Given the description of an element on the screen output the (x, y) to click on. 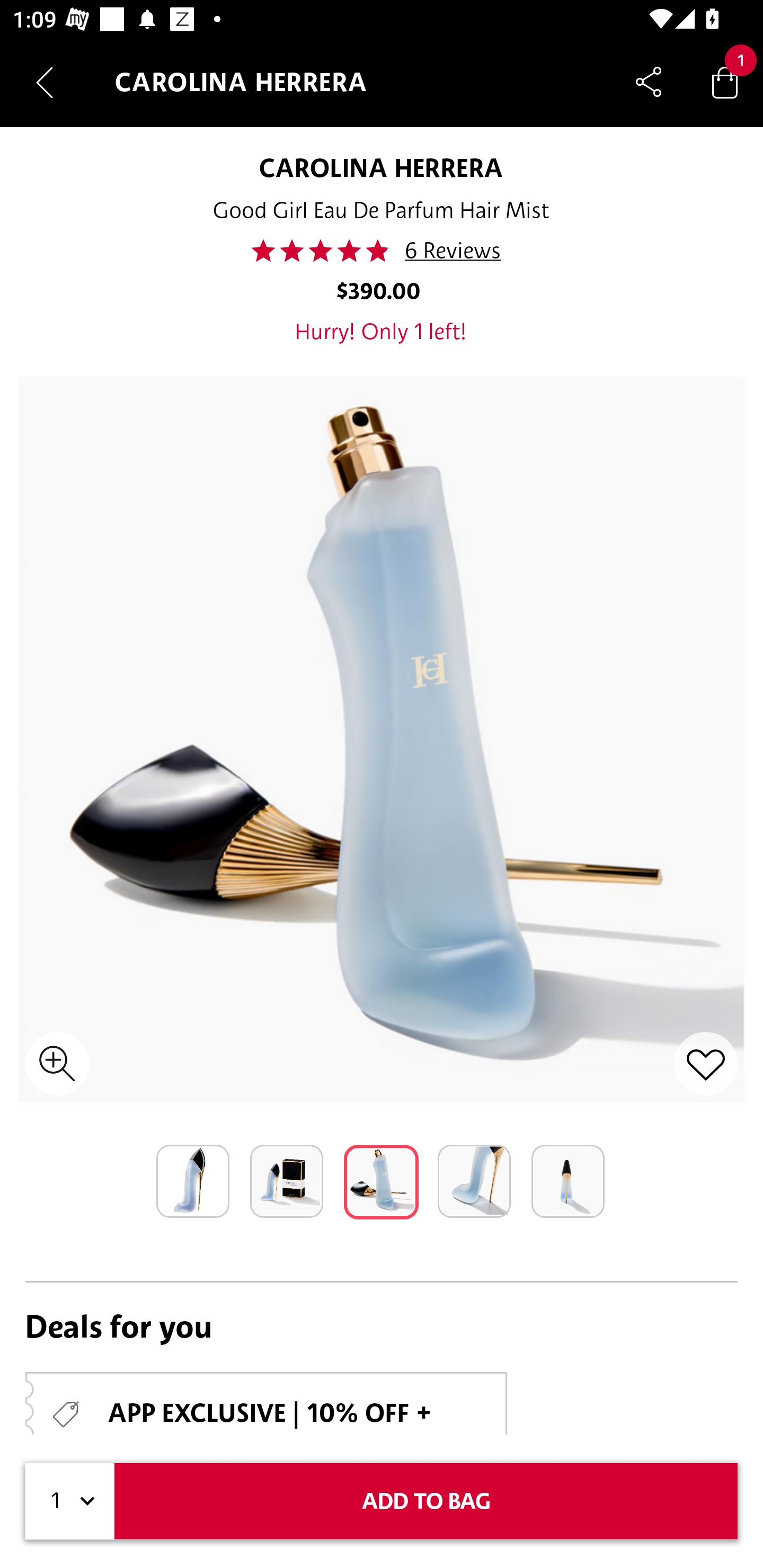
Navigate up (44, 82)
Share (648, 81)
Bag (724, 81)
CAROLINA HERRERA (381, 167)
48.0 6 Reviews (381, 250)
1 (69, 1500)
ADD TO BAG (425, 1500)
